Given the description of an element on the screen output the (x, y) to click on. 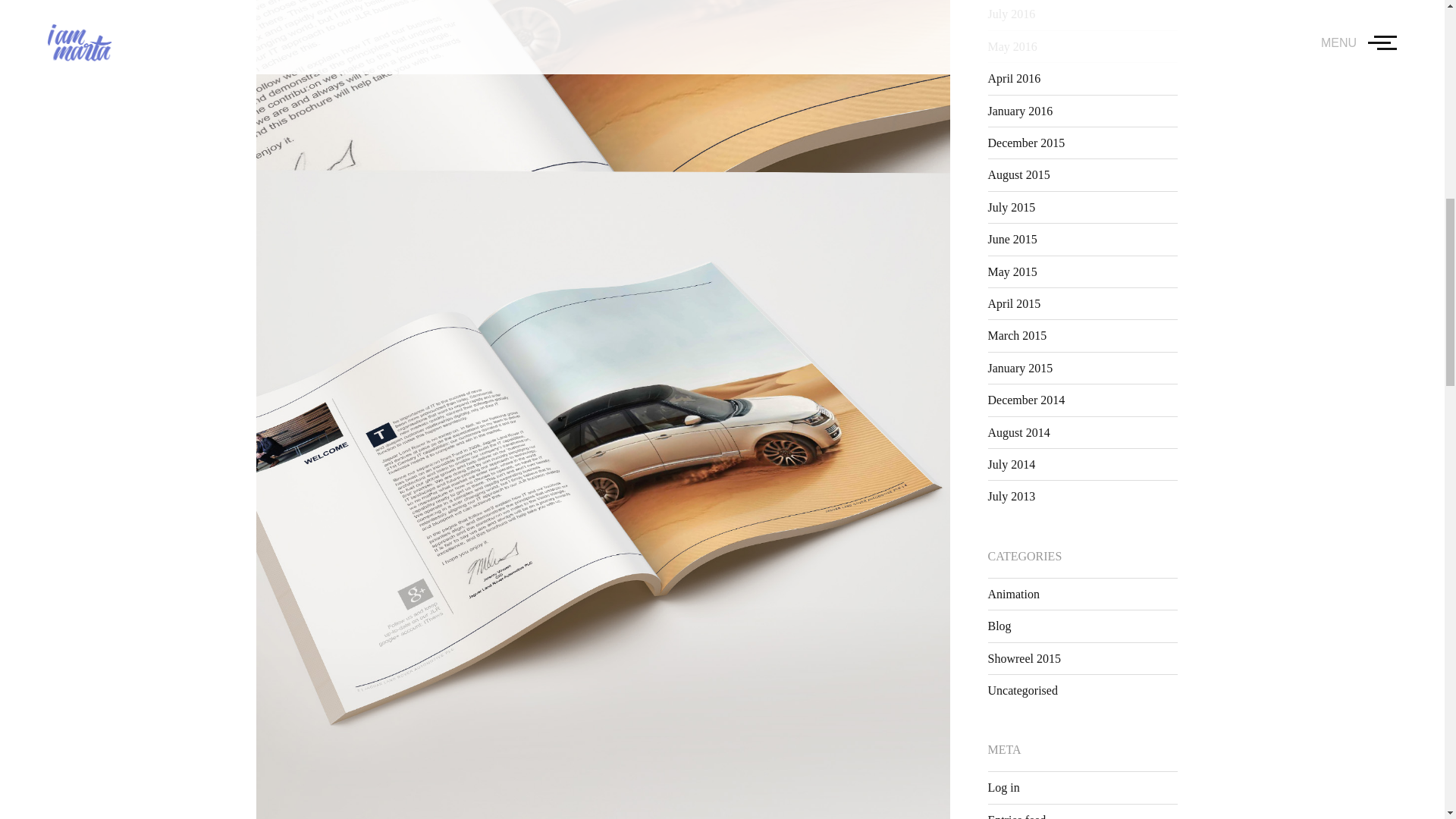
December 2014 (1025, 399)
January 2015 (1019, 367)
May 2016 (1011, 46)
July 2015 (1011, 206)
August 2015 (1018, 174)
April 2015 (1014, 303)
June 2015 (1011, 238)
May 2015 (1011, 271)
March 2015 (1016, 335)
December 2015 (1025, 142)
January 2016 (1019, 110)
July 2016 (1011, 13)
April 2016 (1014, 78)
